Given the description of an element on the screen output the (x, y) to click on. 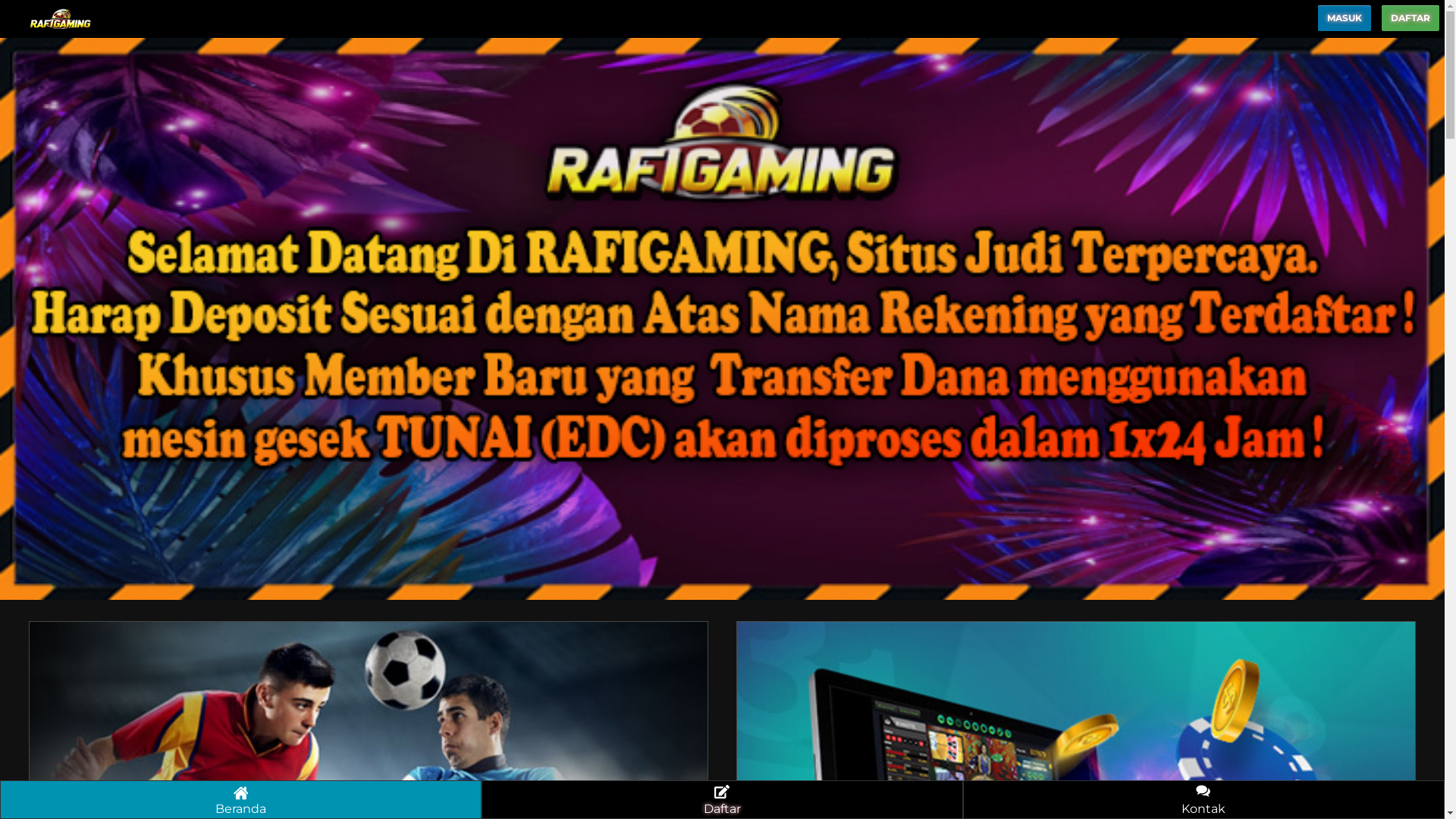
DAFTAR Element type: text (1410, 18)
MASUK Element type: text (1344, 18)
Previous item in carousel (1 of 1) Element type: hover (12, 318)
Next item in carousel (1 of 1) Element type: hover (1431, 318)
